Given the description of an element on the screen output the (x, y) to click on. 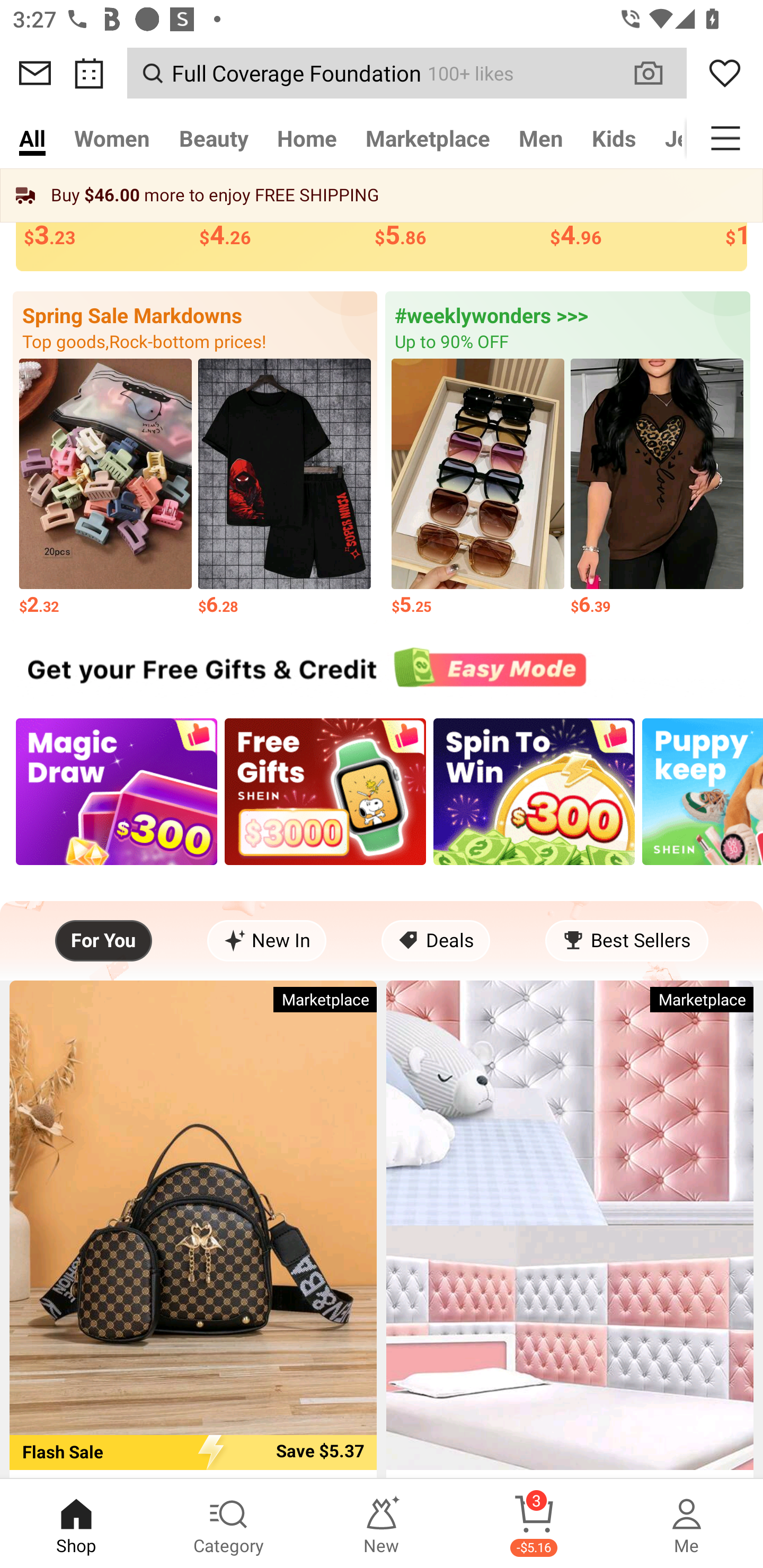
Wishlist (724, 72)
VISUAL SEARCH (657, 72)
All (31, 137)
Women (111, 137)
Beauty (213, 137)
Home (306, 137)
Marketplace (427, 137)
Men (540, 137)
Kids (613, 137)
Buy $46.00 more to enjoy FREE SHIPPING (381, 194)
$2.32 Price $2.32 (105, 488)
$6.28 Price $6.28 (284, 488)
$5.25 Price $5.25 (477, 488)
$6.39 Price $6.39 (656, 488)
New In (266, 940)
Deals (435, 940)
Best Sellers (626, 940)
Category (228, 1523)
New (381, 1523)
Cart 3 -$5.16 (533, 1523)
Me (686, 1523)
